Given the description of an element on the screen output the (x, y) to click on. 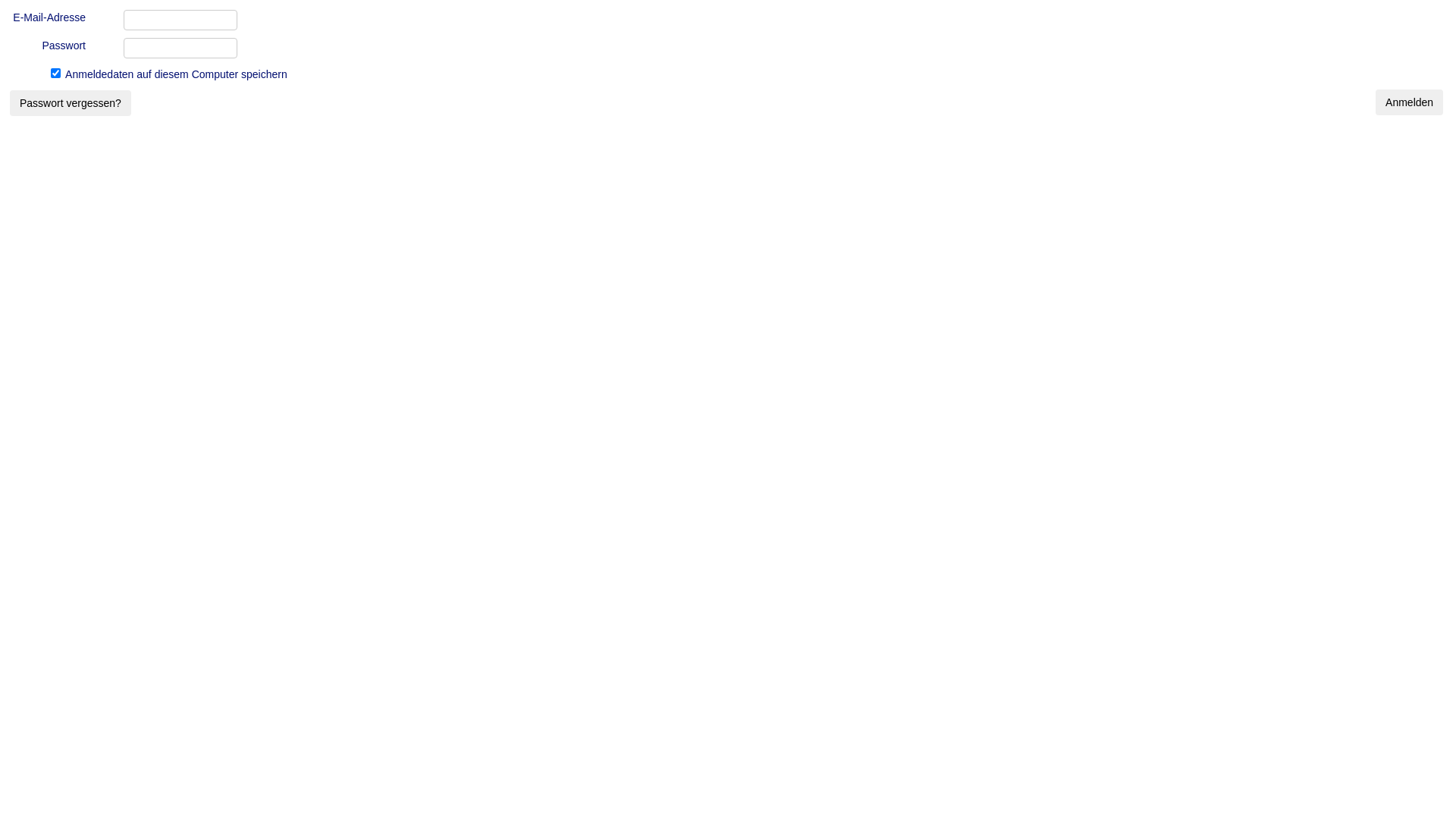
Passwort vergessen? Element type: text (70, 103)
       Anmelden        Element type: text (1409, 102)
